Given the description of an element on the screen output the (x, y) to click on. 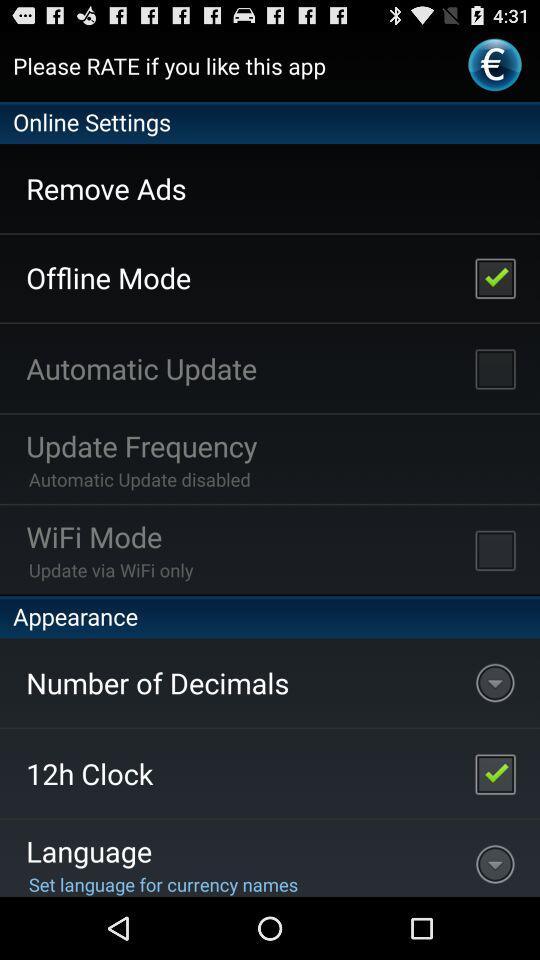
click on last drop down (495, 857)
click on second check box (494, 368)
click on the first icon on the right top of the web page (495, 64)
